Given the description of an element on the screen output the (x, y) to click on. 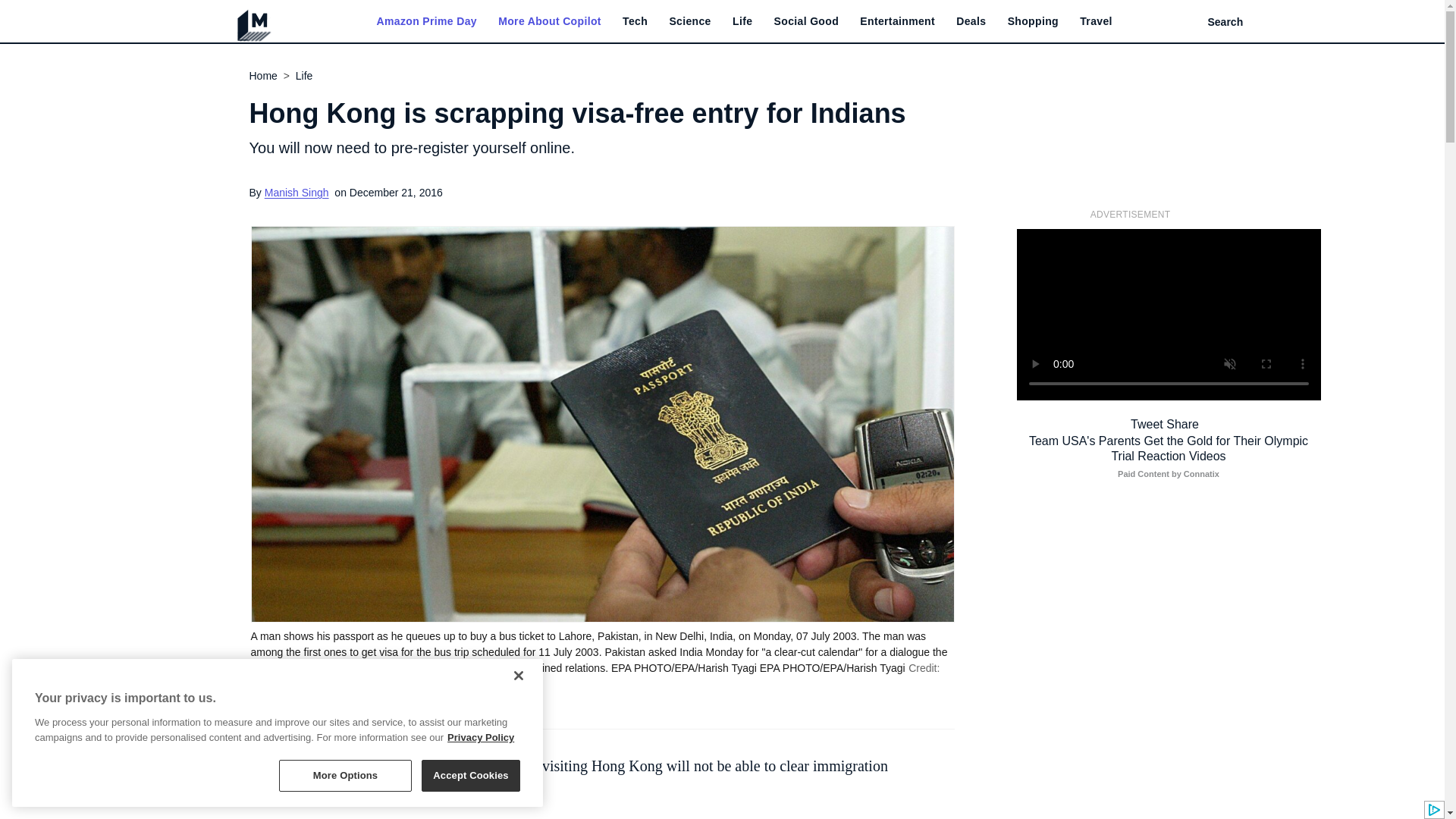
Entertainment (897, 21)
Life (742, 21)
Amazon Prime Day (425, 21)
Social Good (807, 21)
Travel (1096, 21)
More About Copilot (549, 21)
Deals (970, 21)
Science (689, 21)
Shopping (1032, 21)
Tech (635, 21)
